Given the description of an element on the screen output the (x, y) to click on. 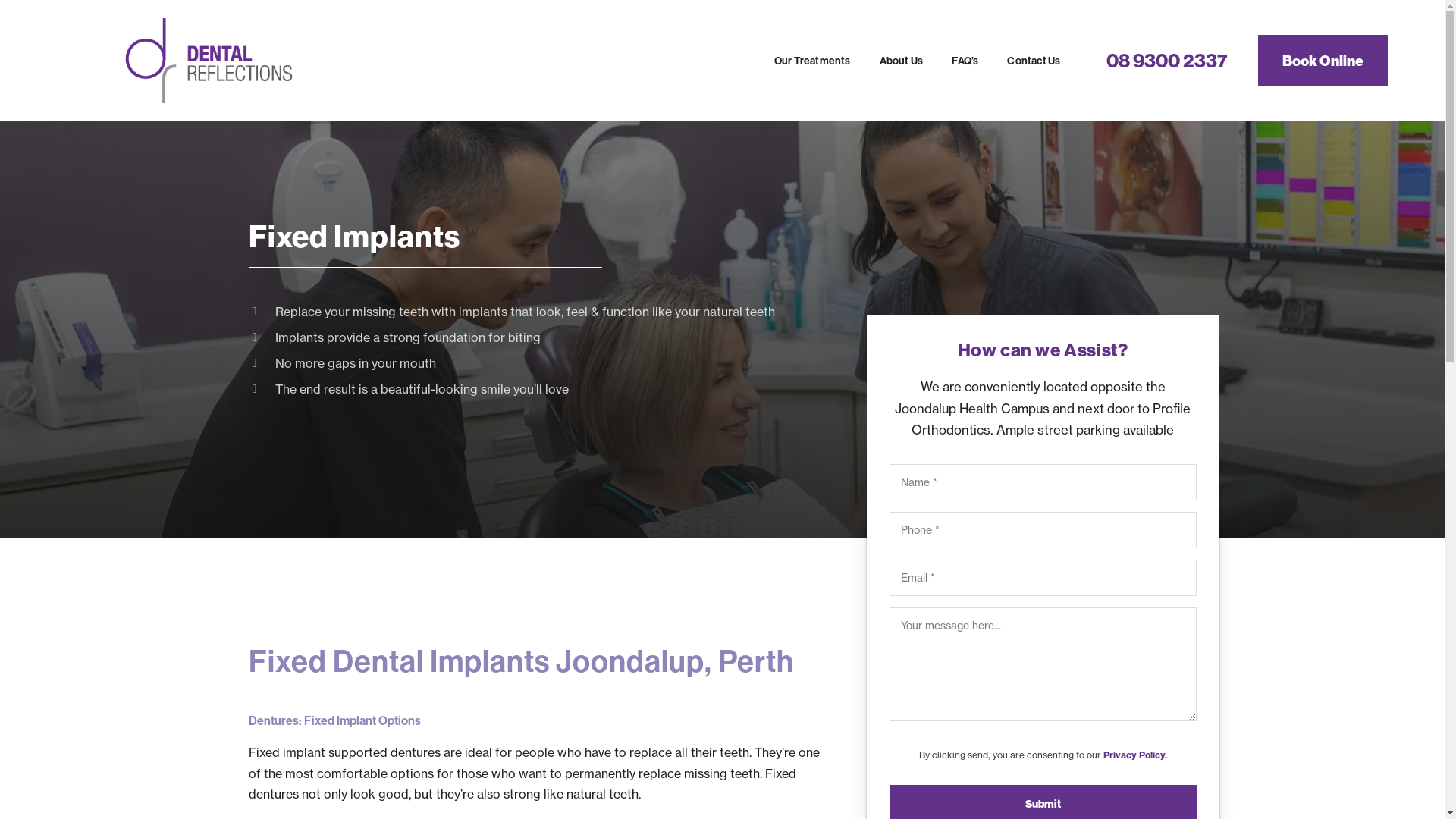
Book Online Element type: text (1322, 60)
About Us Element type: text (901, 60)
Contact Us Element type: text (1033, 60)
08 9300 2337 Element type: text (1161, 60)
Dental Reflections Element type: text (208, 60)
Privacy Policy. Element type: text (1134, 754)
Our Treatments Element type: text (812, 60)
